Given the description of an element on the screen output the (x, y) to click on. 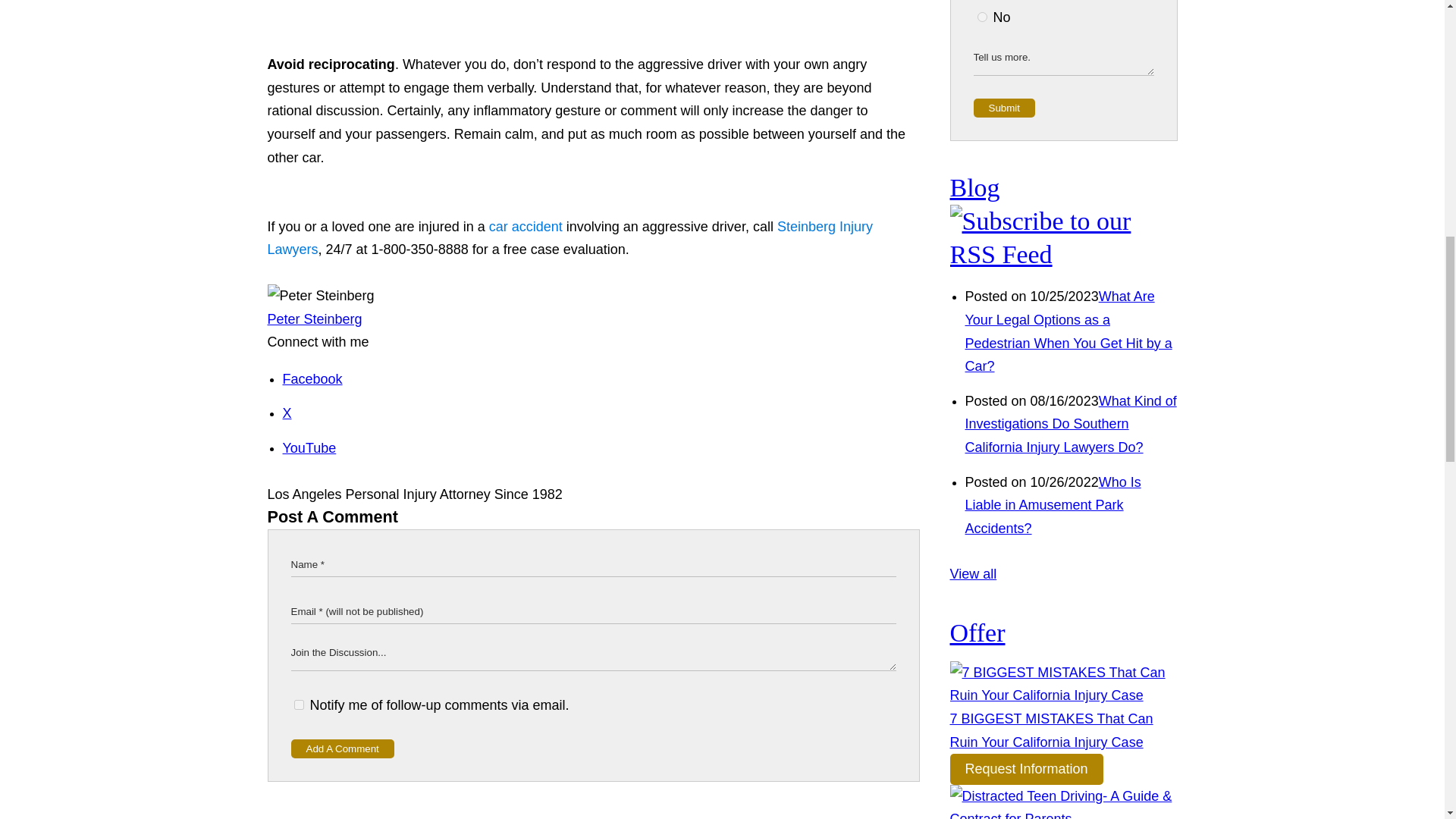
Find me on Facebook (312, 378)
Watch me on YouTube (309, 447)
No (981, 17)
Steinberg Injury Lawyers (569, 238)
Peter Steinberg (313, 319)
Subscribe to our RSS Feed (1062, 254)
1 (299, 705)
car accident (525, 226)
